Given the description of an element on the screen output the (x, y) to click on. 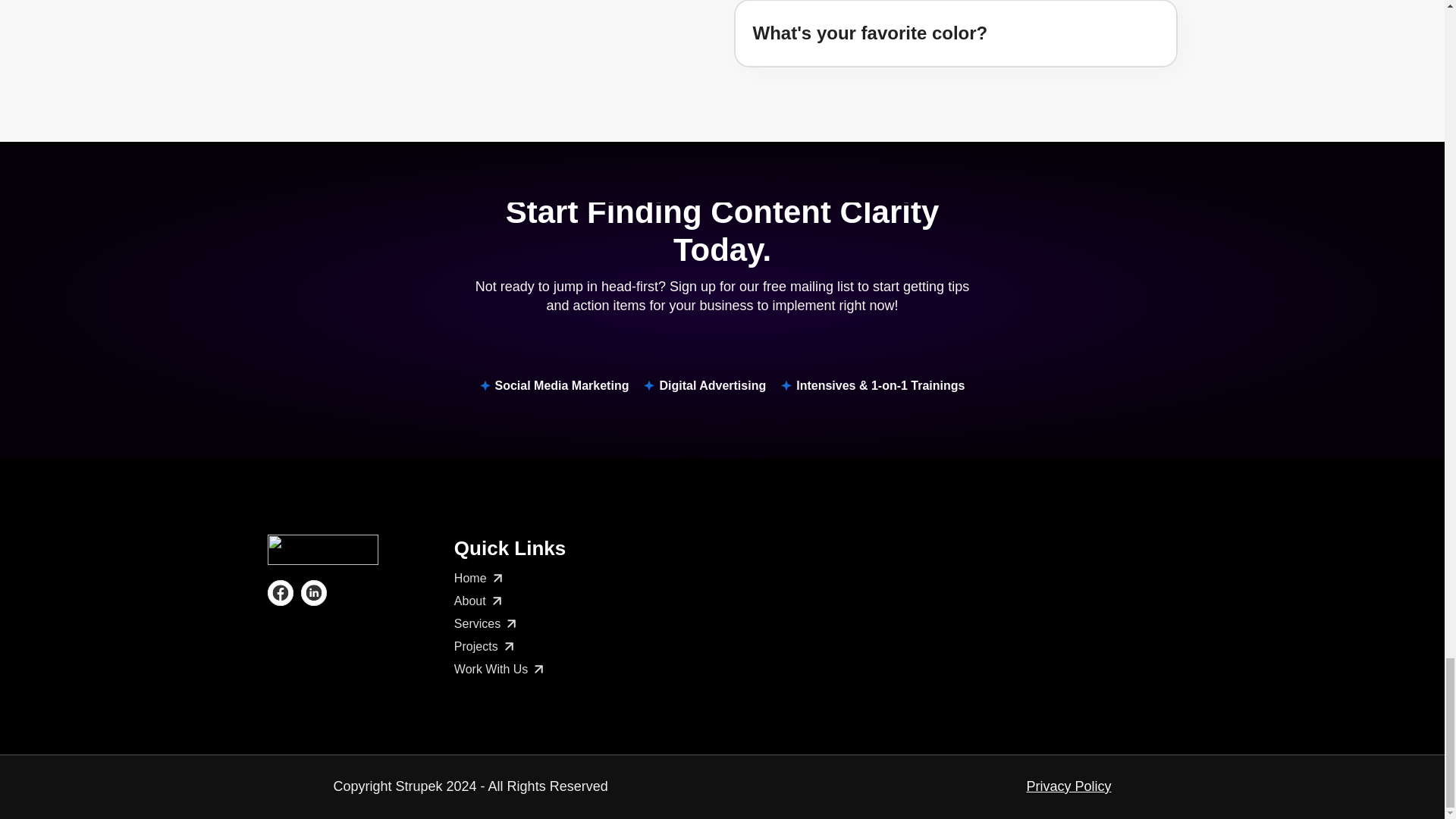
Work With Us (500, 669)
Privacy Policy (1068, 785)
About (479, 601)
Home (479, 578)
Projects (485, 647)
Services (486, 624)
